Given the description of an element on the screen output the (x, y) to click on. 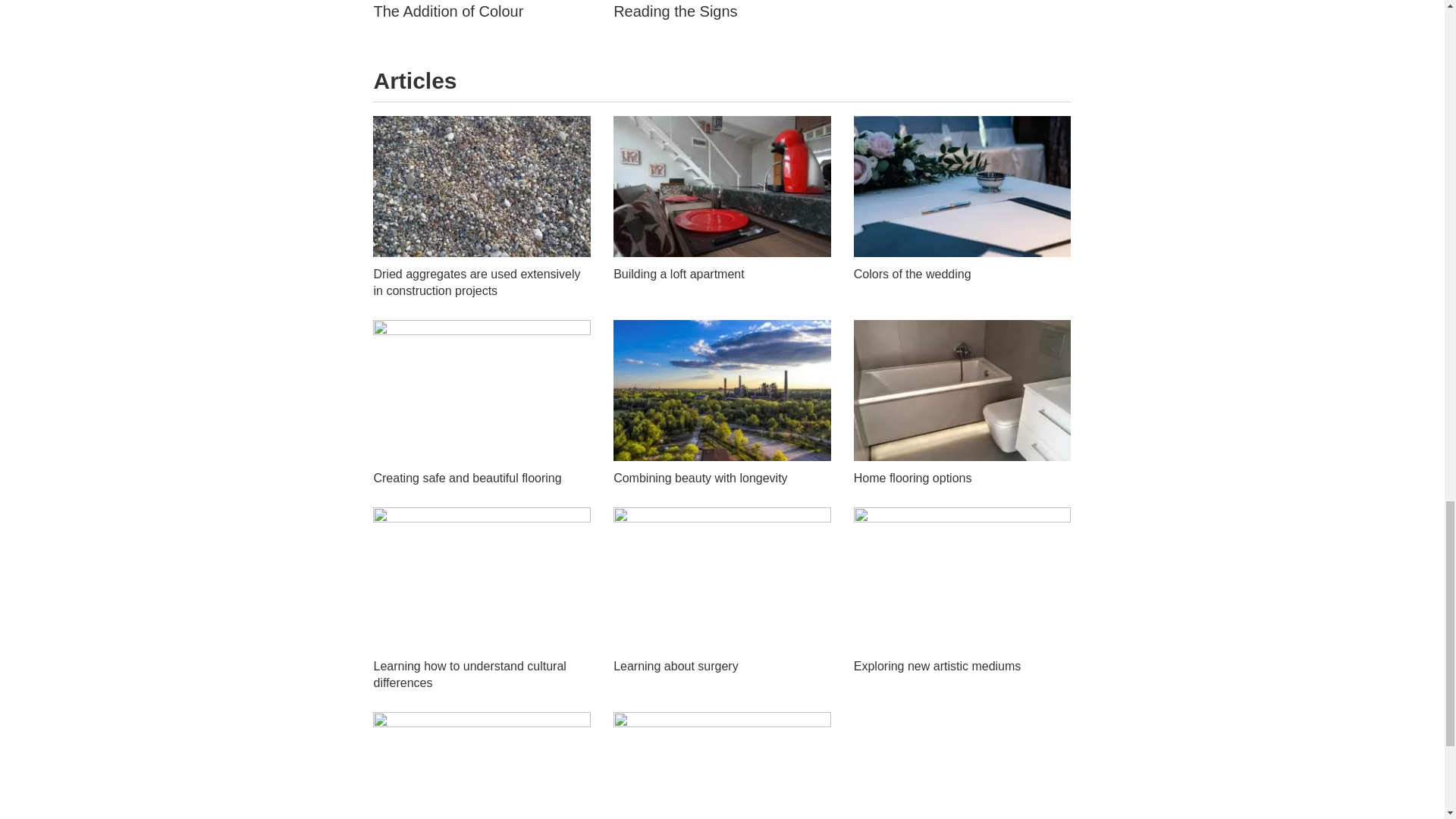
The Addition of Colour (447, 11)
Exploring new artistic mediums (937, 666)
Colors of the wedding (912, 273)
Reading the Signs (674, 11)
Home flooring options (912, 477)
Learning how to understand cultural differences (469, 674)
Creating safe and beautiful flooring (466, 477)
Learning about surgery (675, 666)
Building a loft apartment (678, 273)
Combining beauty with longevity (699, 477)
